Given the description of an element on the screen output the (x, y) to click on. 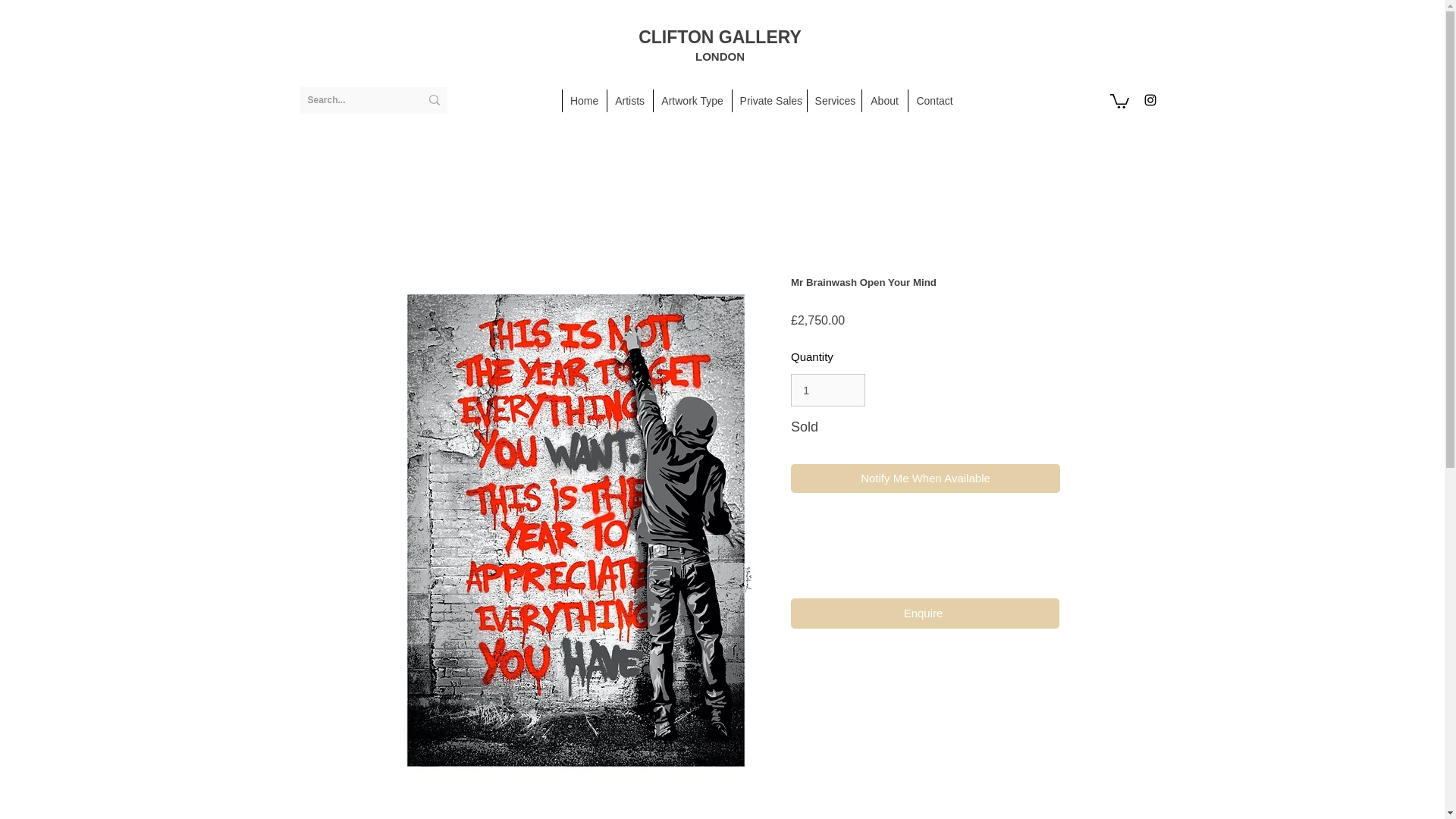
Home (584, 100)
Enquire (924, 613)
Notify Me When Available (924, 478)
About (884, 100)
1 (827, 390)
Artists (629, 100)
LONDON (719, 53)
CLIFTON GALLERY (720, 36)
Services (833, 100)
Private Sales (769, 100)
